Given the description of an element on the screen output the (x, y) to click on. 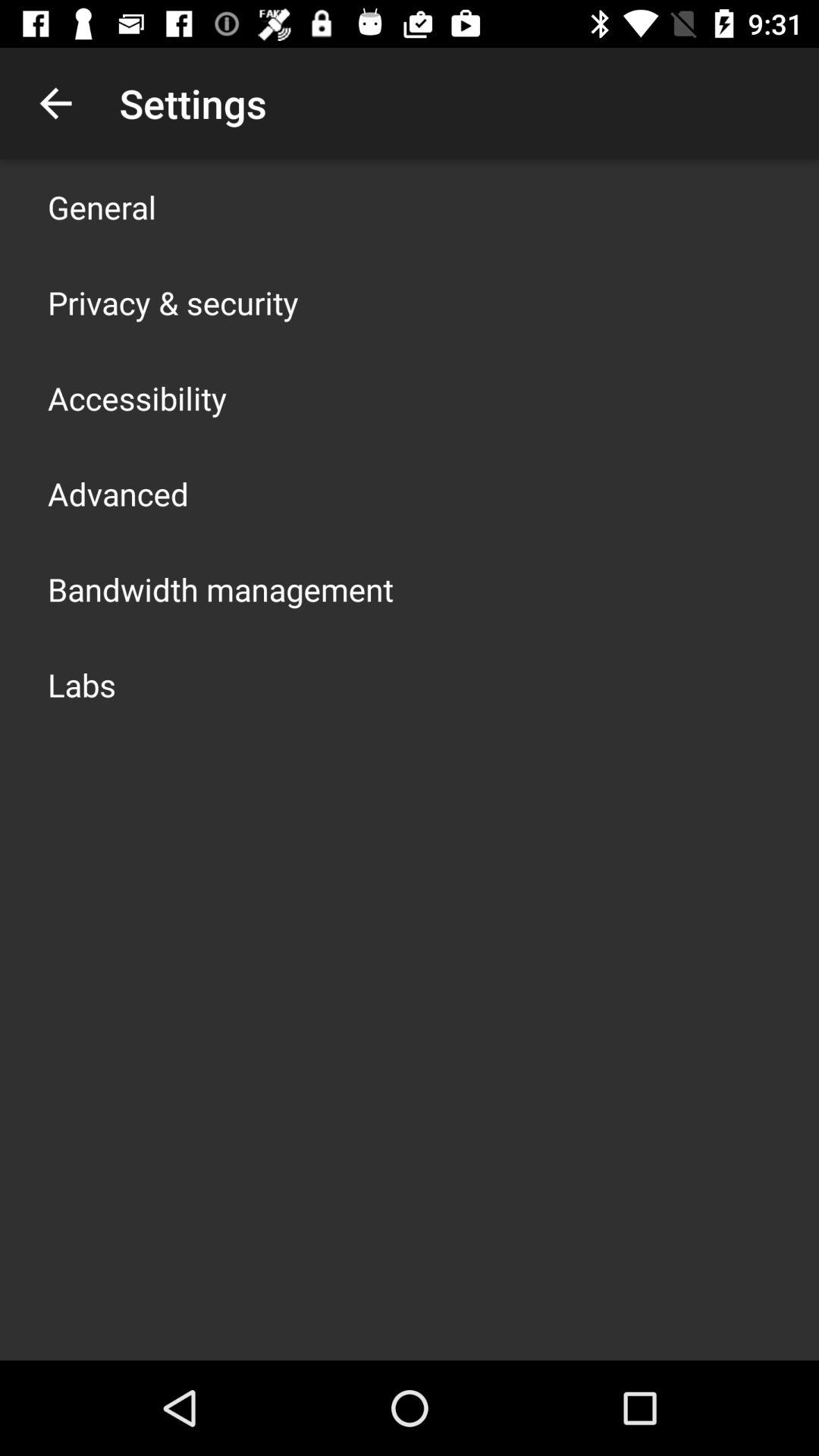
turn on item above general icon (55, 103)
